Given the description of an element on the screen output the (x, y) to click on. 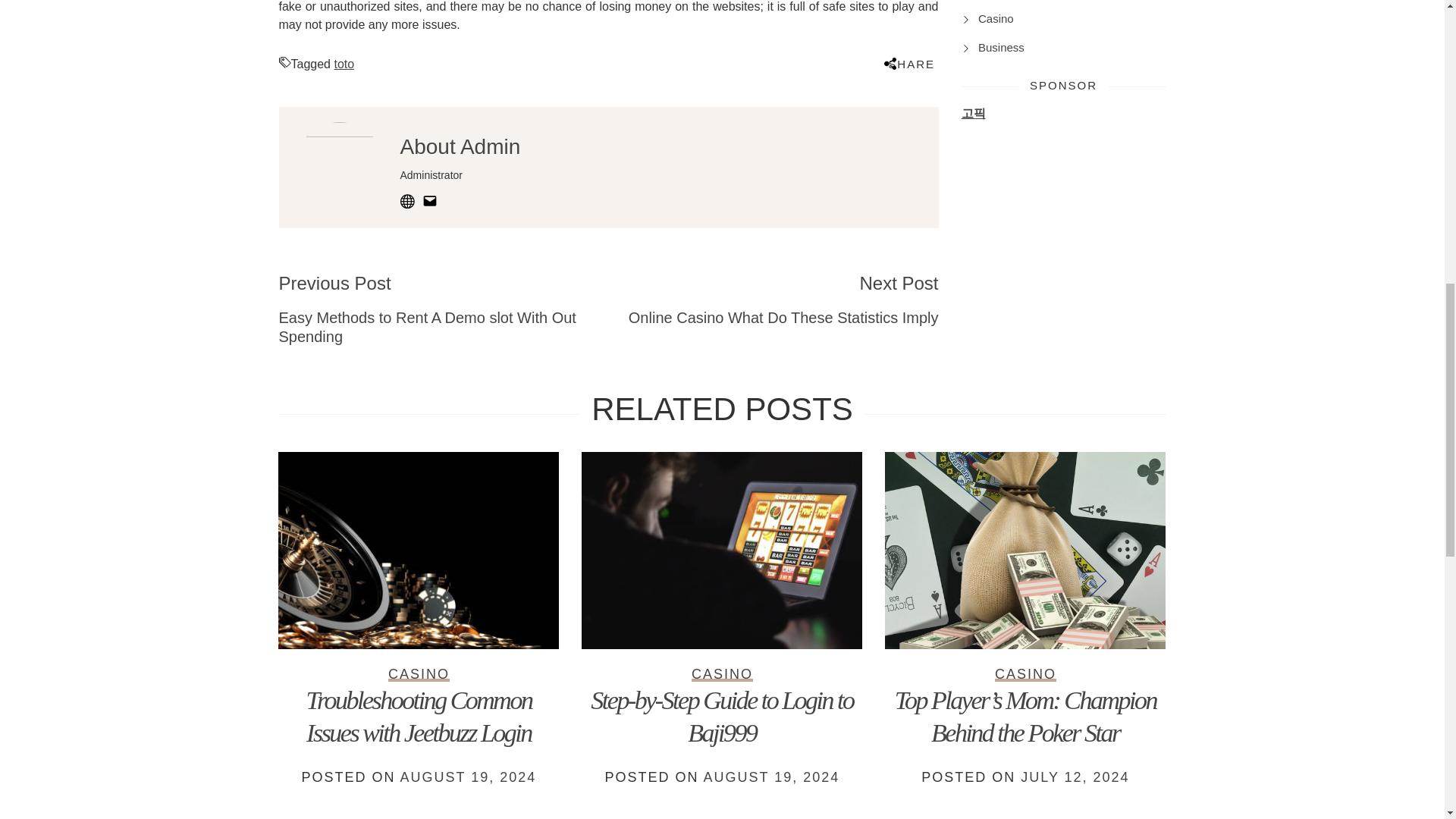
About Admin (460, 146)
toto (772, 298)
